Given the description of an element on the screen output the (x, y) to click on. 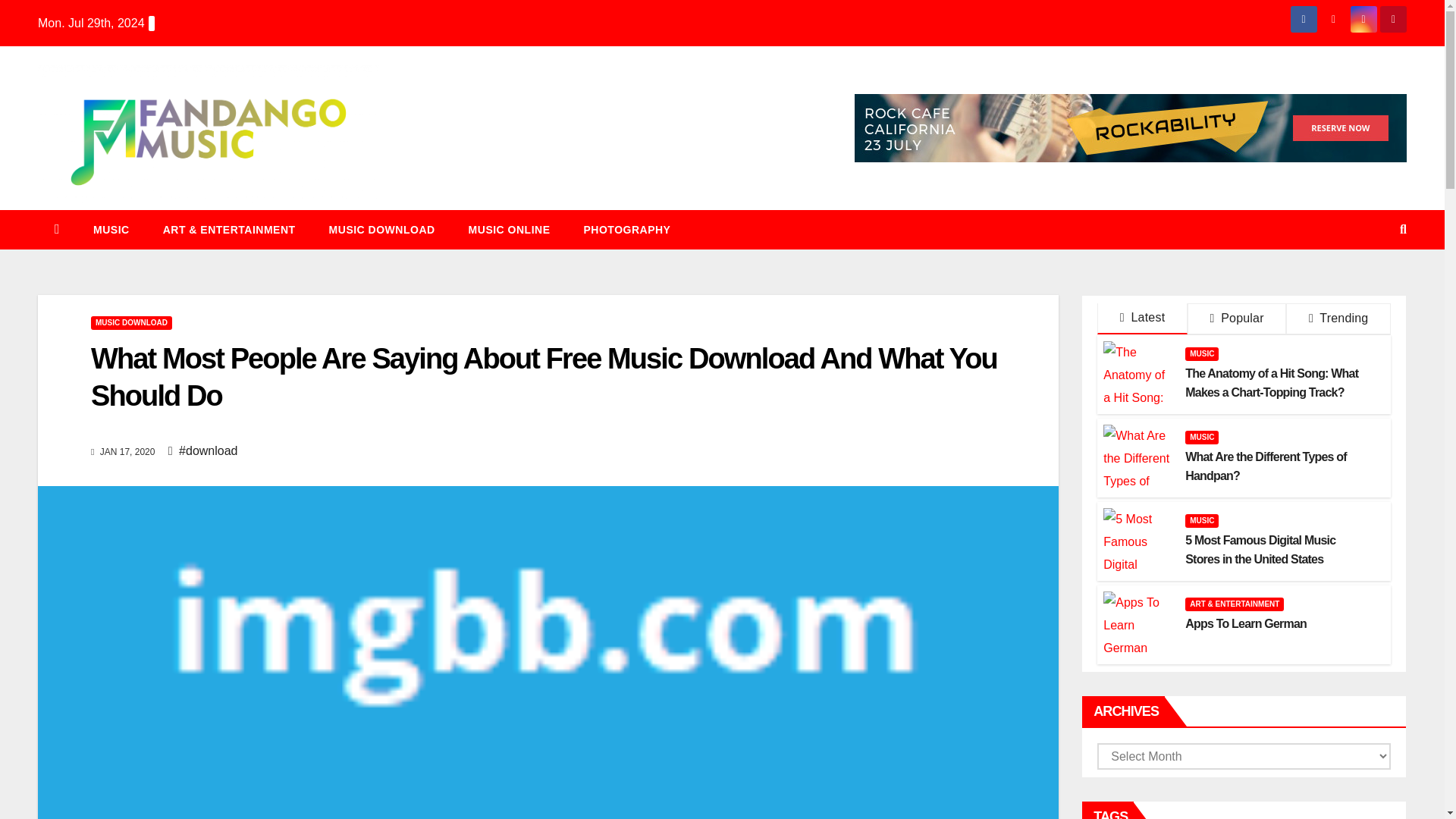
Music Download (382, 229)
MUSIC ONLINE (509, 229)
MUSIC (112, 229)
Music Online (509, 229)
Popular (1236, 318)
PHOTOGRAPHY (627, 229)
Trending (1337, 318)
Music (112, 229)
Photography (627, 229)
MUSIC DOWNLOAD (130, 323)
Latest (1142, 318)
MUSIC DOWNLOAD (382, 229)
